Given the description of an element on the screen output the (x, y) to click on. 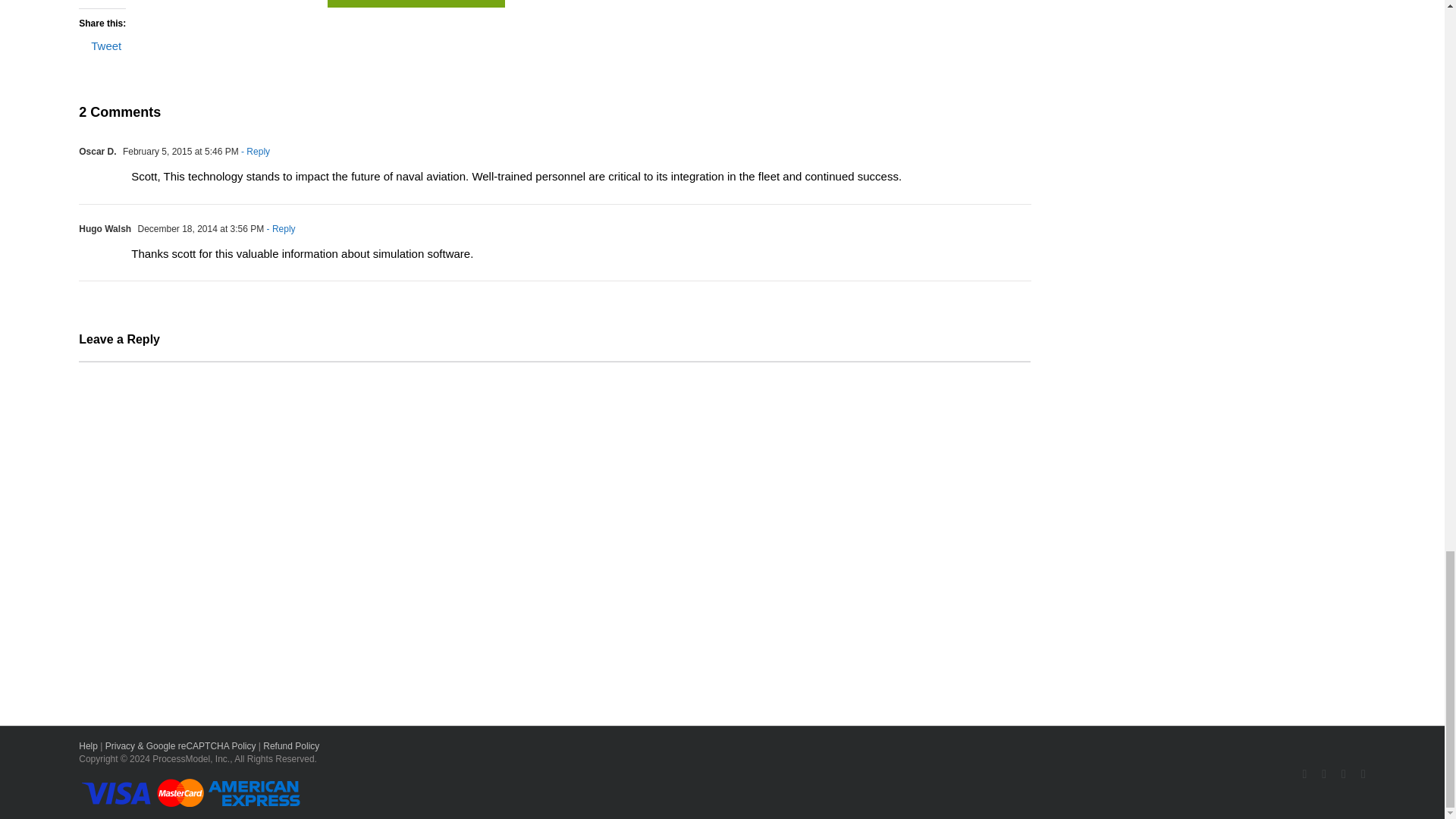
- Reply (279, 228)
- Reply (253, 151)
Refund Policy (290, 746)
Tweet (105, 44)
START YOUR FREE TRIAL (415, 4)
Help (87, 746)
